Given the description of an element on the screen output the (x, y) to click on. 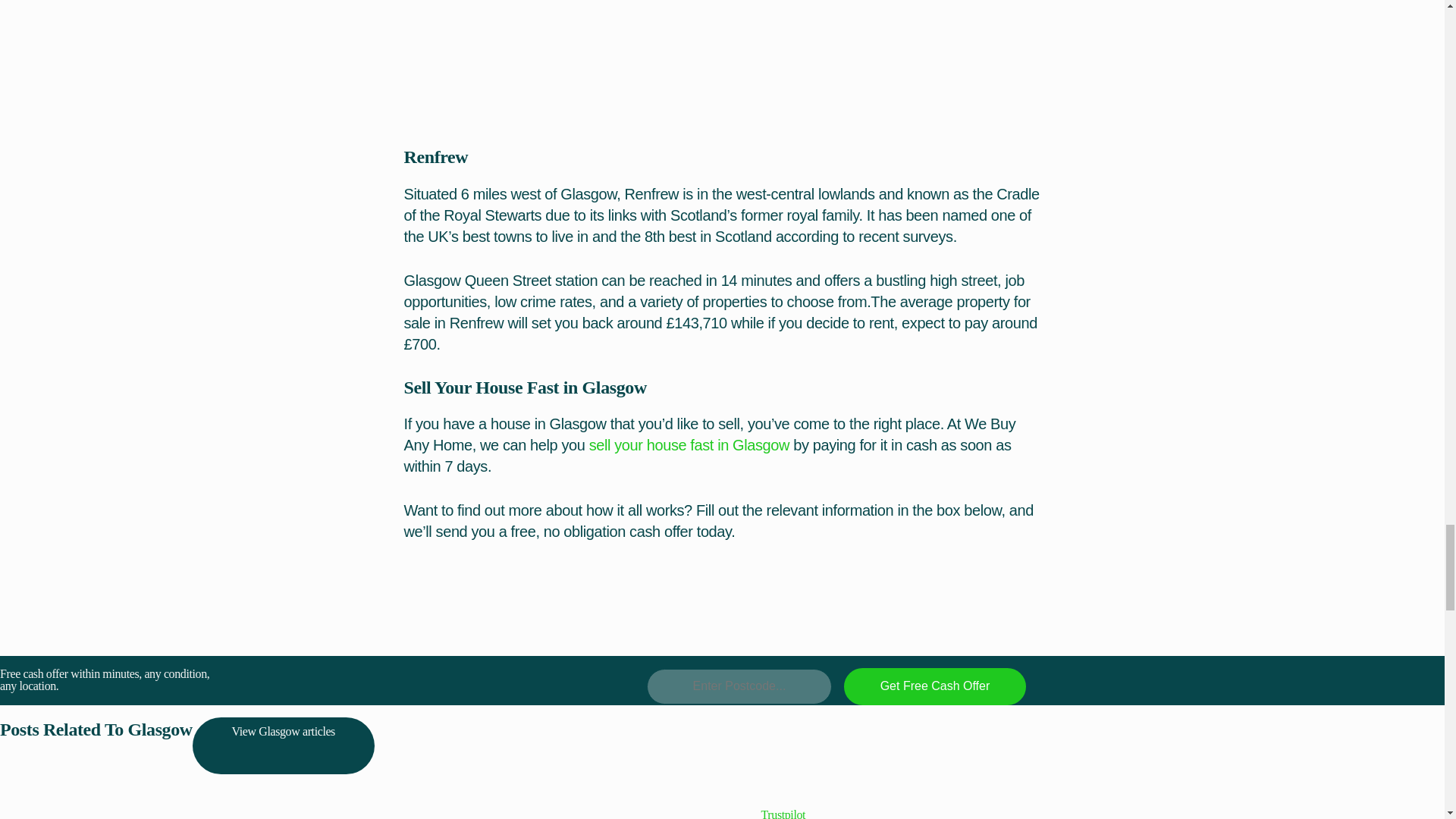
Trustpilot (783, 813)
View Glasgow articles (283, 745)
sell your house fast in Glasgow (689, 444)
Get Free Cash Offer (935, 686)
